Given the description of an element on the screen output the (x, y) to click on. 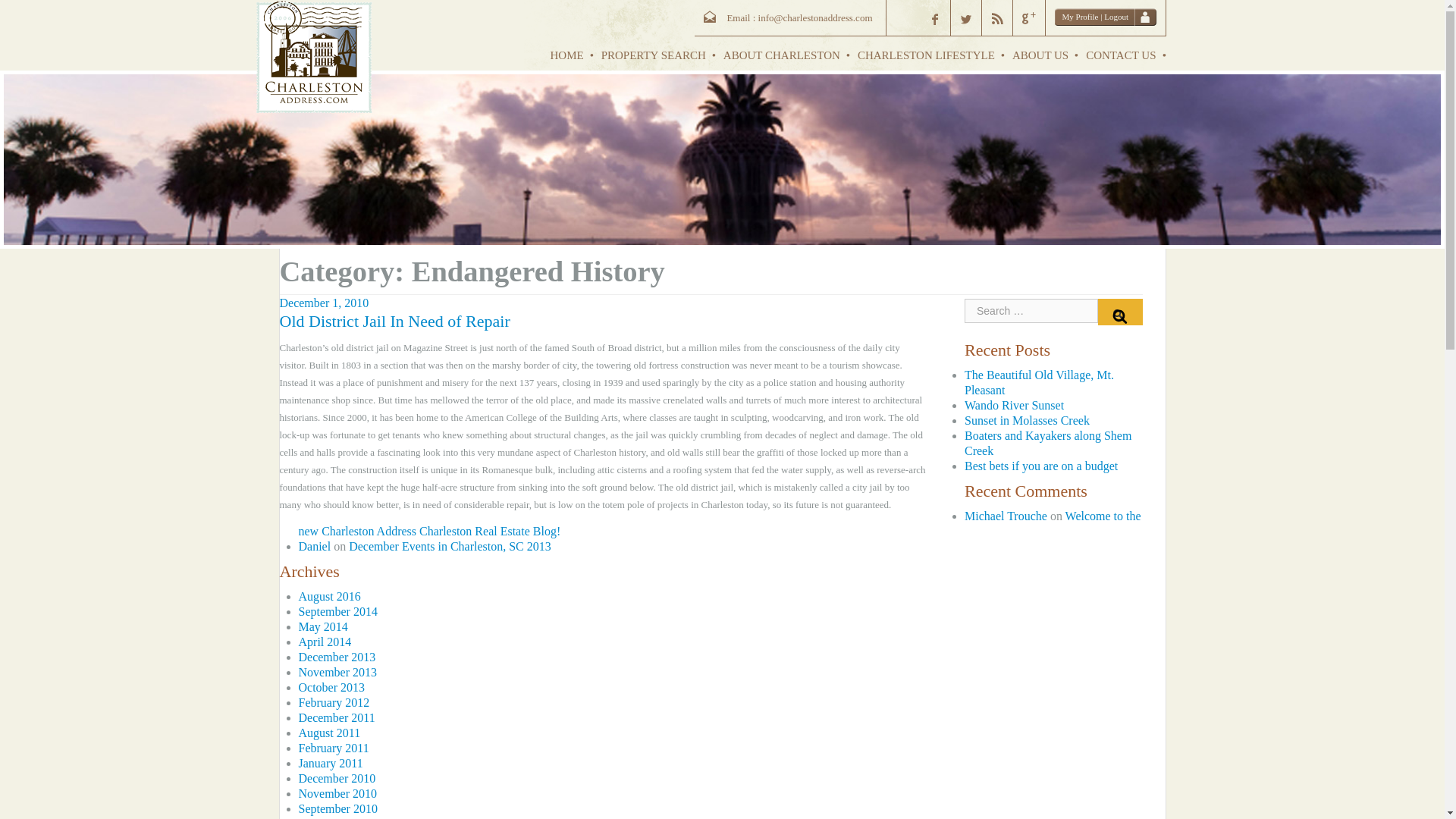
CHARLESTON LIFESTYLE (927, 55)
My Profile (1079, 16)
HOME (568, 55)
ABOUT US (1041, 55)
Old District Jail In Need of Repair (394, 321)
December 1, 2010 (323, 302)
Logout (1115, 16)
The Beautiful Old Village, Mt. Pleasant (1038, 382)
ABOUT CHARLESTON (783, 55)
CONTACT US (1122, 55)
PROPERTY SEARCH (655, 55)
